Given the description of an element on the screen output the (x, y) to click on. 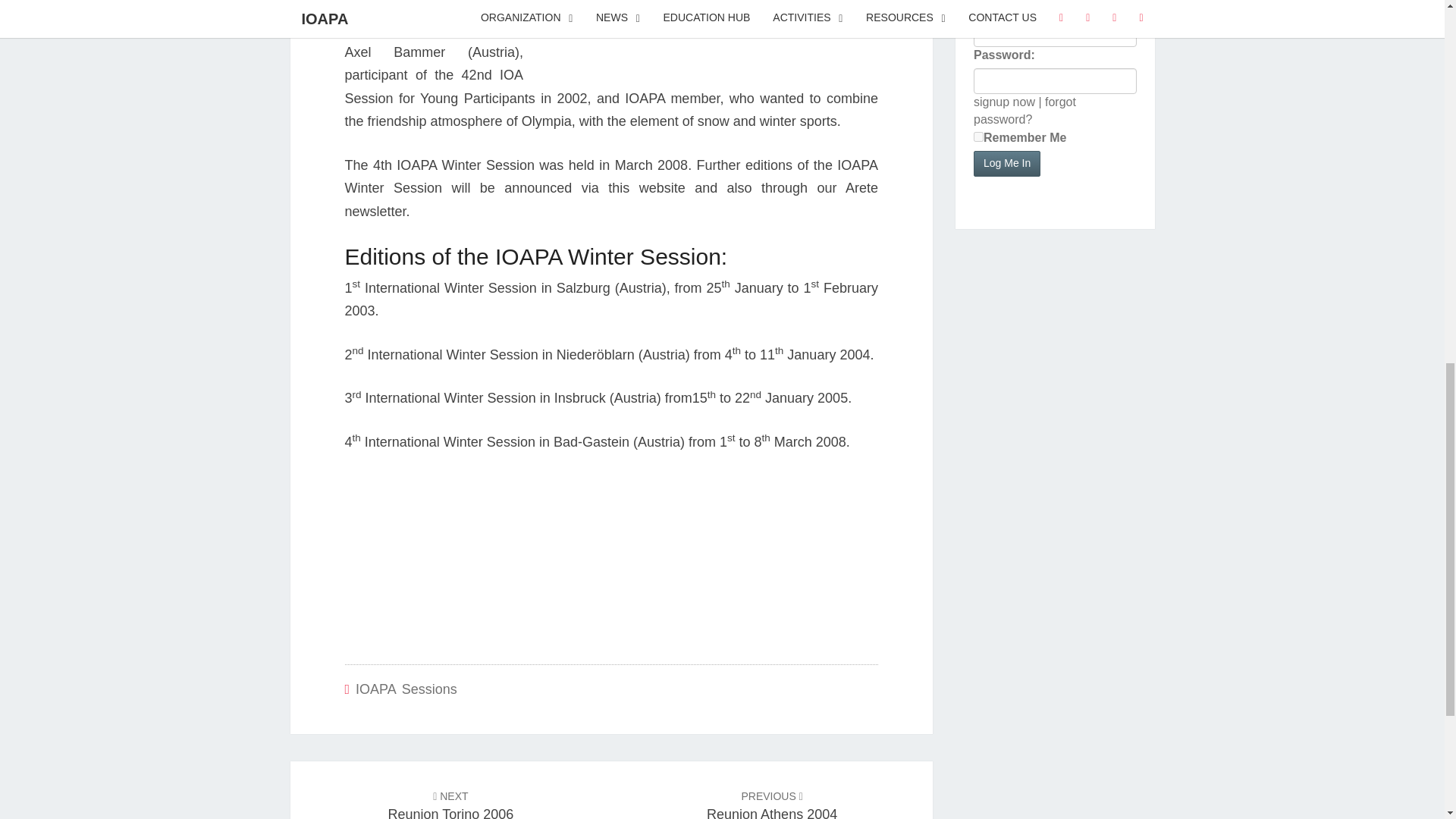
Log Me In (1007, 163)
Username (1055, 33)
forever (979, 136)
Password (1055, 80)
